Given the description of an element on the screen output the (x, y) to click on. 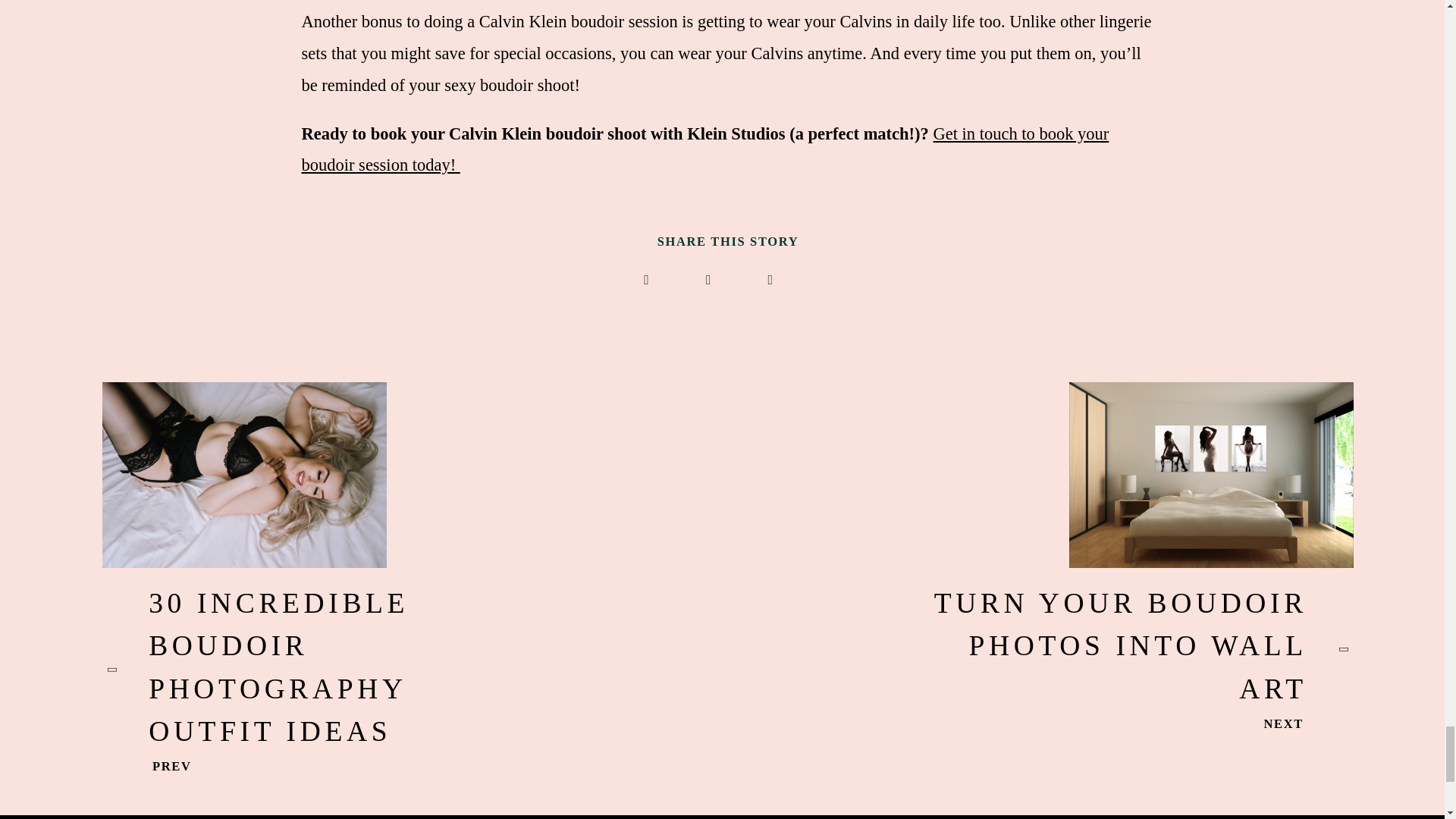
NEXT (1308, 723)
TURN YOUR BOUDOIR PHOTOS INTO WALL ART (1134, 648)
Get in touch to book your boudoir session today!  (705, 149)
30 INCREDIBLE BOUDOIR PHOTOGRAPHY OUTFIT IDEAS (320, 669)
PREV (146, 766)
